Given the description of an element on the screen output the (x, y) to click on. 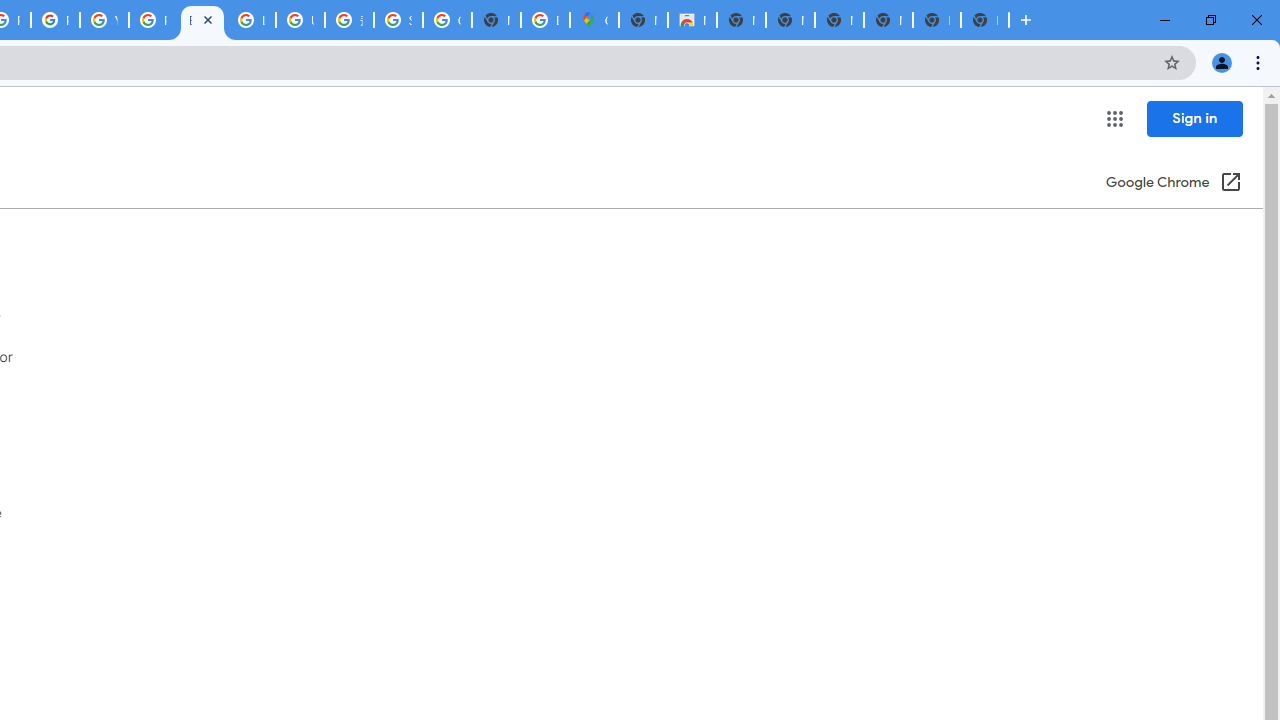
Google Maps (594, 20)
Google Chrome (Open in a new window) (1173, 183)
